Given the description of an element on the screen output the (x, y) to click on. 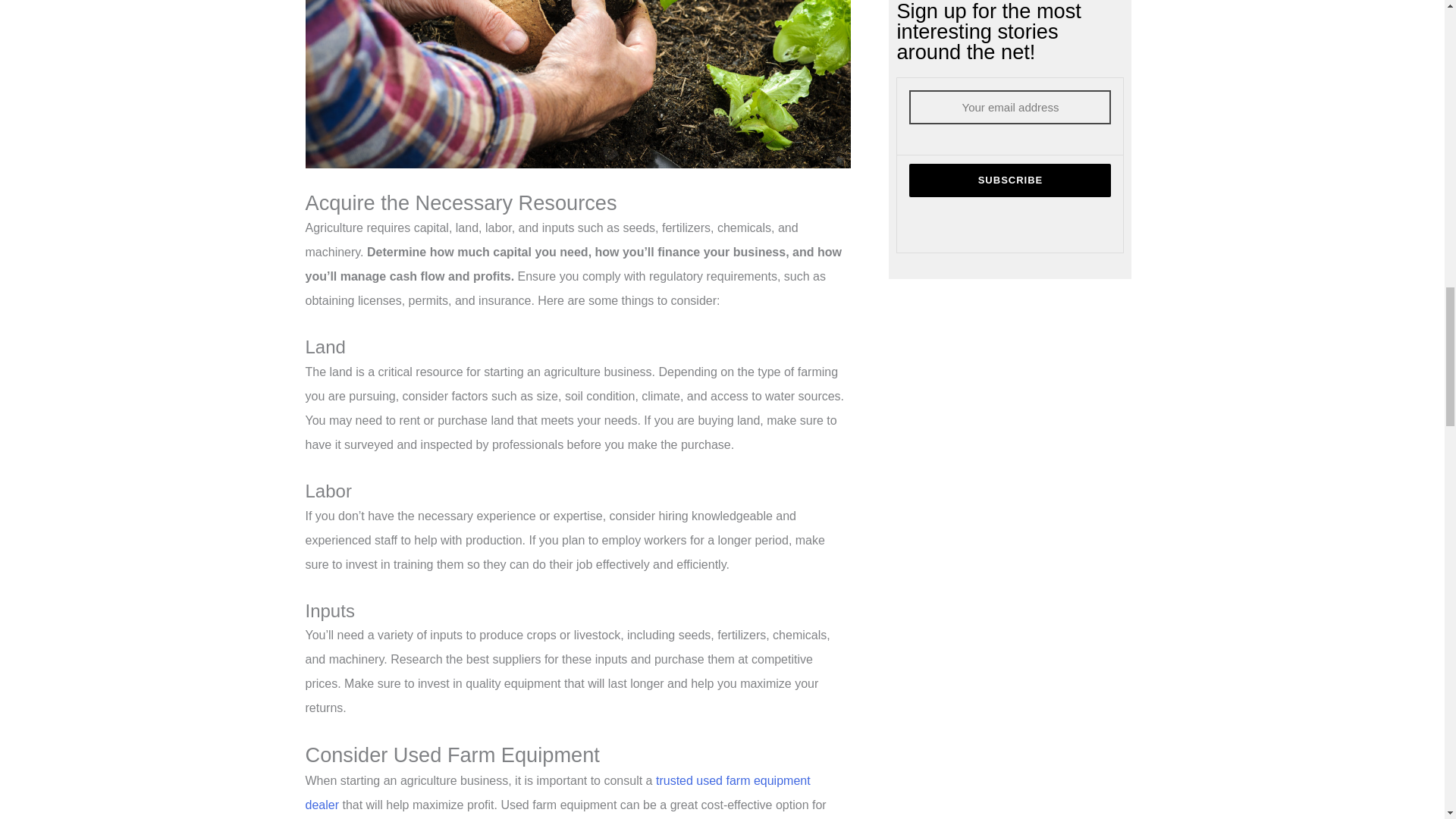
farming (577, 84)
Subscribe (1009, 180)
Subscribe (1009, 180)
trusted used farm equipment dealer (556, 792)
